Given the description of an element on the screen output the (x, y) to click on. 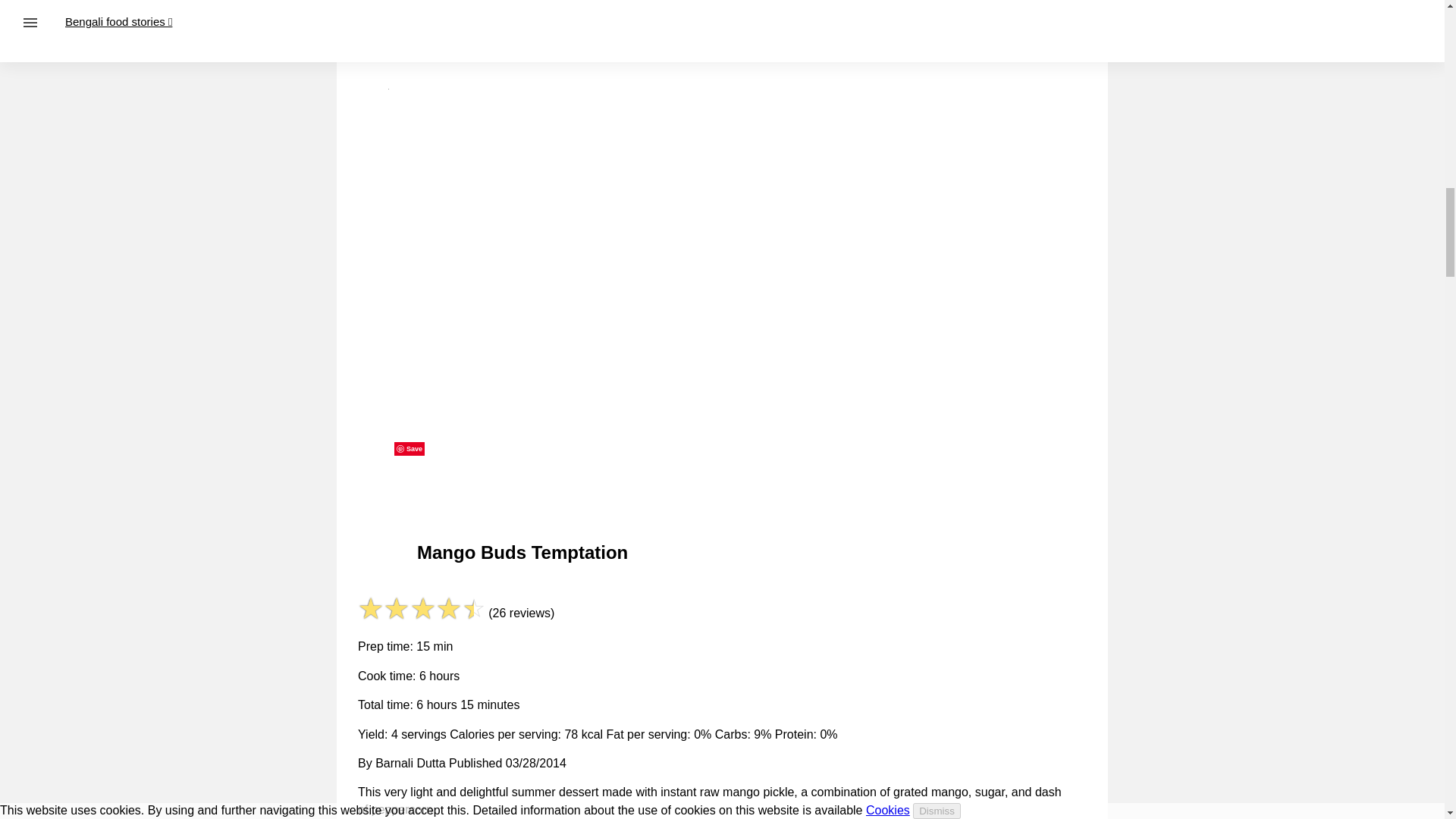
Save (409, 448)
